Given the description of an element on the screen output the (x, y) to click on. 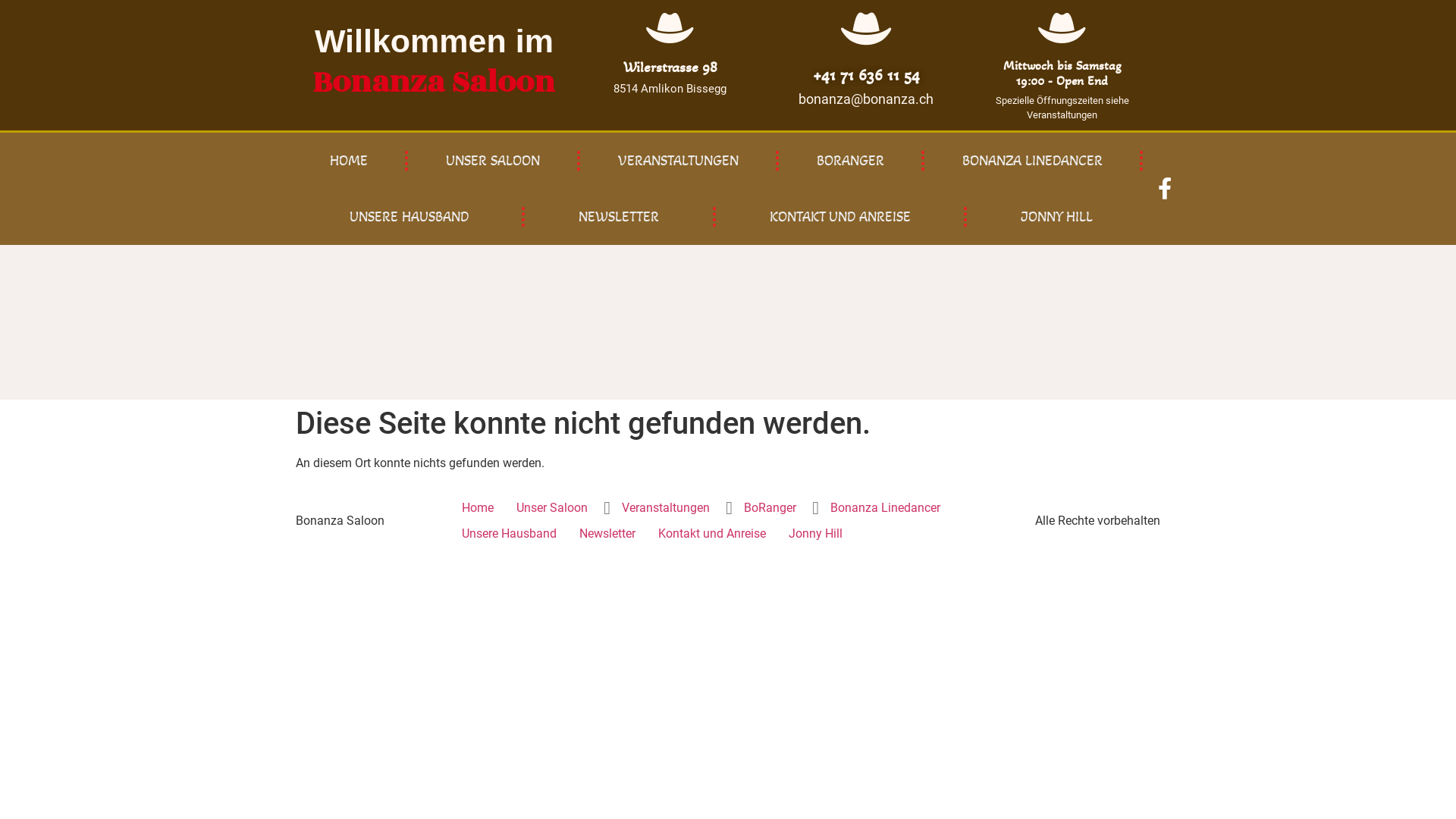
UNSERE HAUSBAND Element type: text (407, 216)
Kontakt und Anreise Element type: text (711, 533)
HOME Element type: text (348, 160)
UNSER SALOON Element type: text (492, 160)
Unsere Hausband Element type: text (508, 533)
Home Element type: text (477, 507)
JONNY HILL Element type: text (1056, 216)
Jonny Hill Element type: text (815, 533)
NEWSLETTER Element type: text (618, 216)
BONANZA LINEDANCER Element type: text (1032, 160)
Bonanza Linedancer Element type: text (885, 507)
Newsletter Element type: text (606, 533)
BoRanger Element type: text (769, 507)
Unser Saloon Element type: text (552, 507)
BORANGER Element type: text (850, 160)
VERANSTALTUNGEN Element type: text (677, 160)
Veranstaltungen Element type: text (665, 507)
KONTAKT UND ANREISE Element type: text (839, 216)
